Given the description of an element on the screen output the (x, y) to click on. 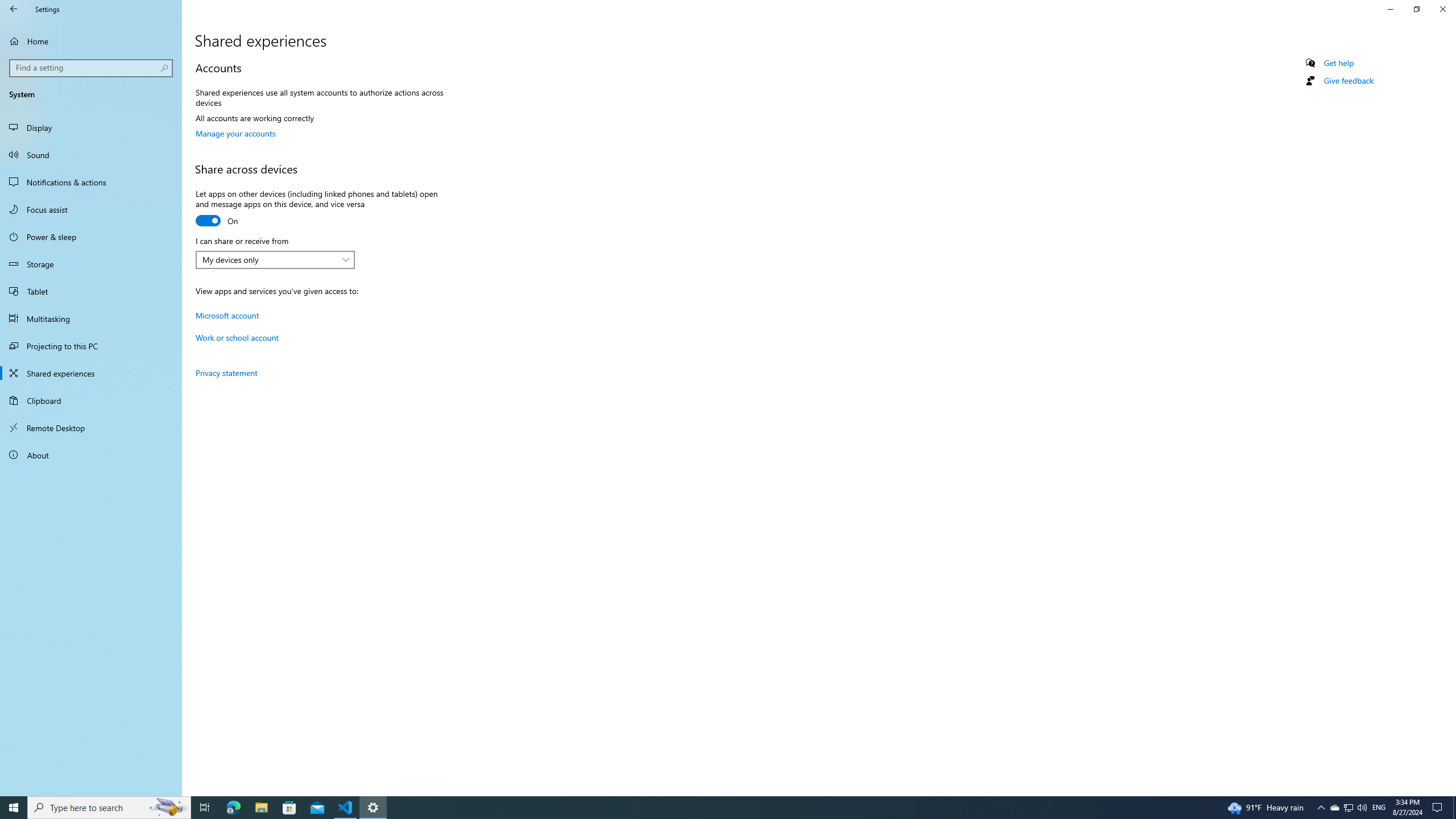
Show desktop (1454, 807)
User Promoted Notification Area (1347, 807)
Privacy statement (226, 372)
Clipboard (91, 400)
Shared experiences (1333, 807)
Tray Input Indicator - English (United States) (91, 372)
Notification Chevron (1378, 807)
Sound (1320, 807)
File Explorer (91, 154)
Work or school account (261, 807)
Action Center, No new notifications (237, 337)
Search highlights icon opens search home window (1439, 807)
My devices only (167, 807)
